Given the description of an element on the screen output the (x, y) to click on. 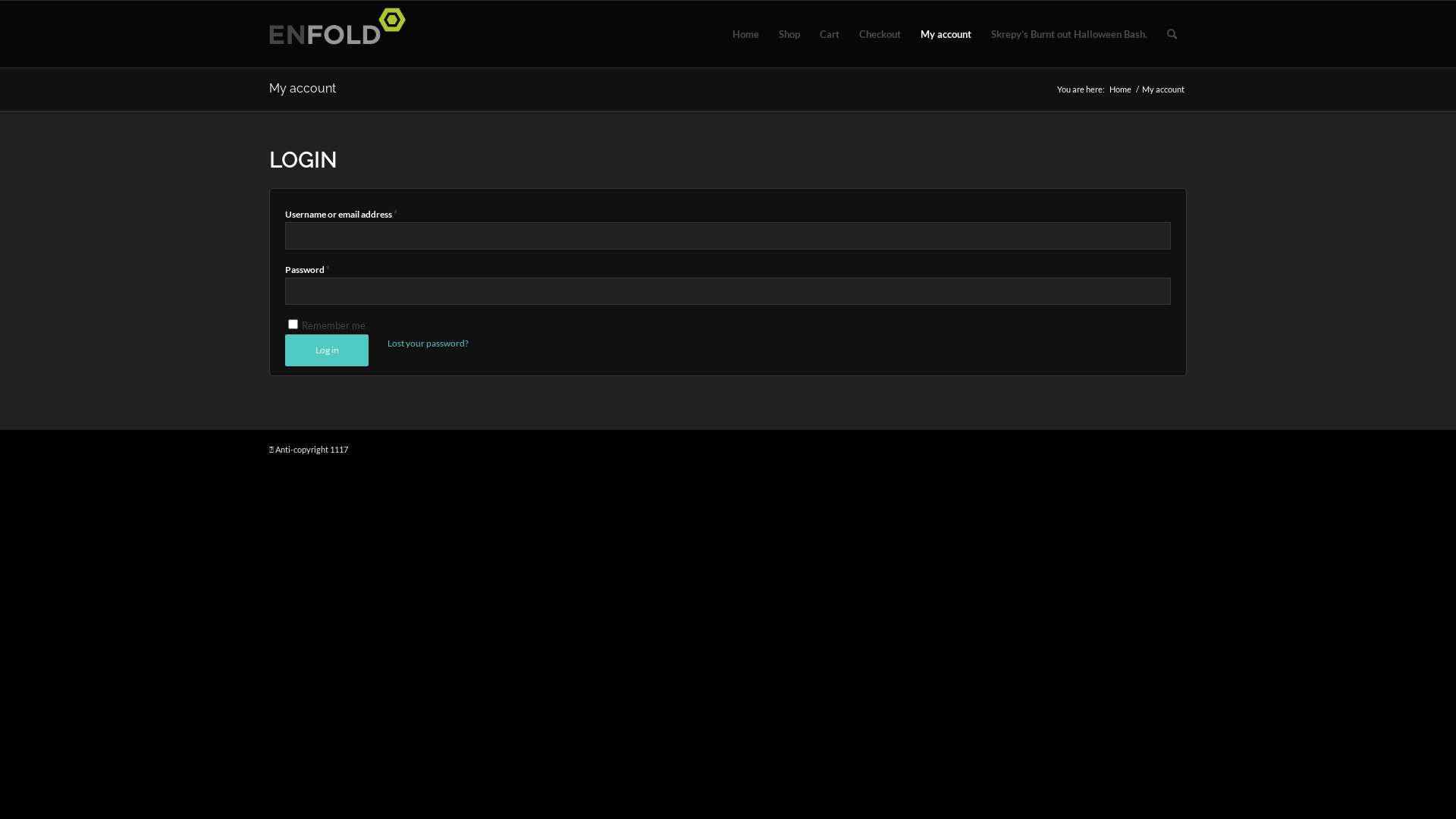
Lost your password? Element type: text (427, 342)
Home Element type: text (1120, 88)
Cart Element type: text (829, 33)
Home Element type: text (745, 33)
Log in Element type: text (326, 350)
My account Element type: text (945, 33)
Checkout Element type: text (879, 33)
My account Element type: text (302, 88)
Shop Element type: text (788, 33)
